Given the description of an element on the screen output the (x, y) to click on. 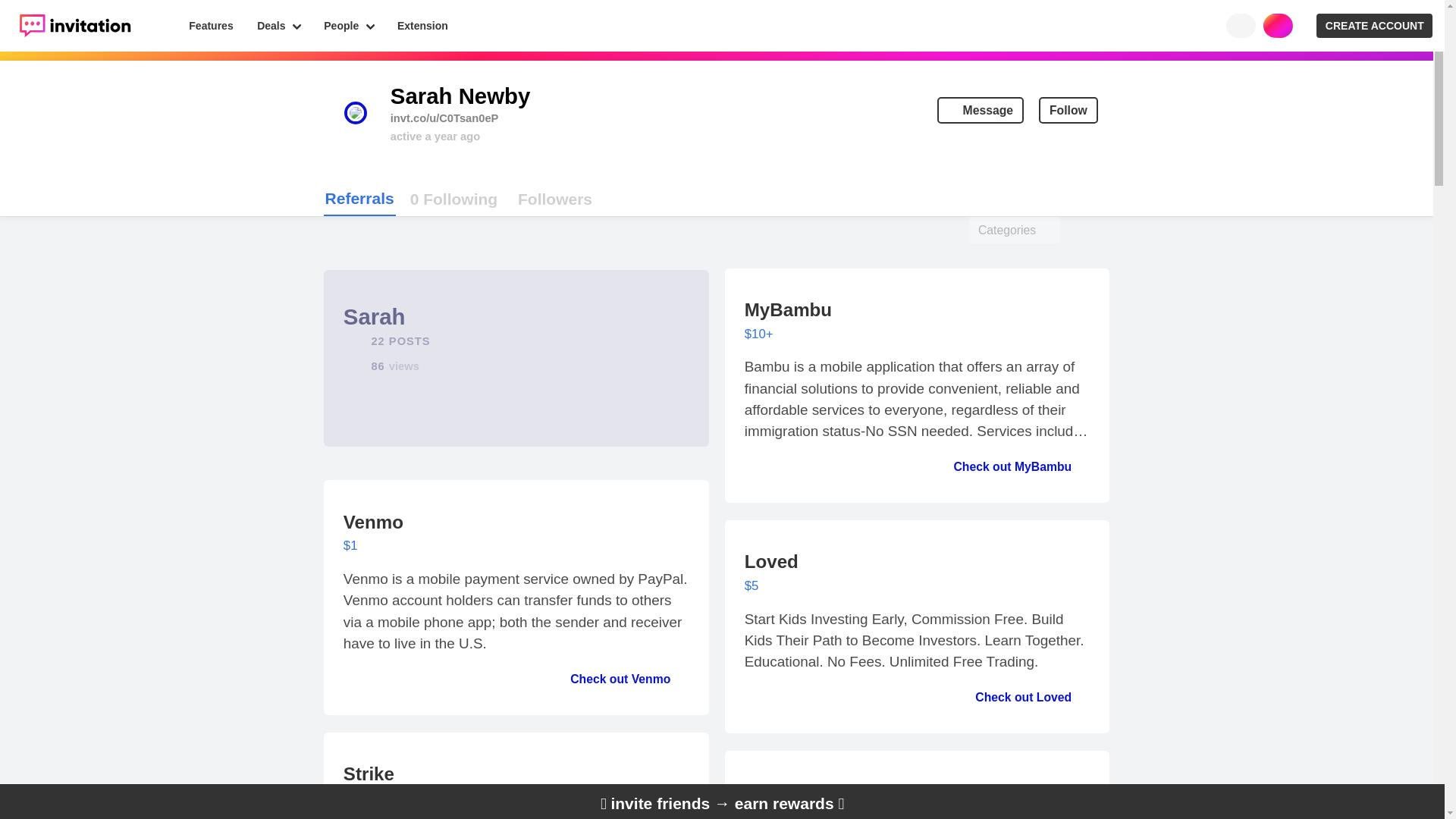
Deals (277, 25)
Message (454, 198)
Extension (980, 110)
CREATE ACCOUNT (422, 25)
Features (1374, 25)
Referrals (211, 25)
Follow (359, 199)
People (1068, 110)
